Given the description of an element on the screen output the (x, y) to click on. 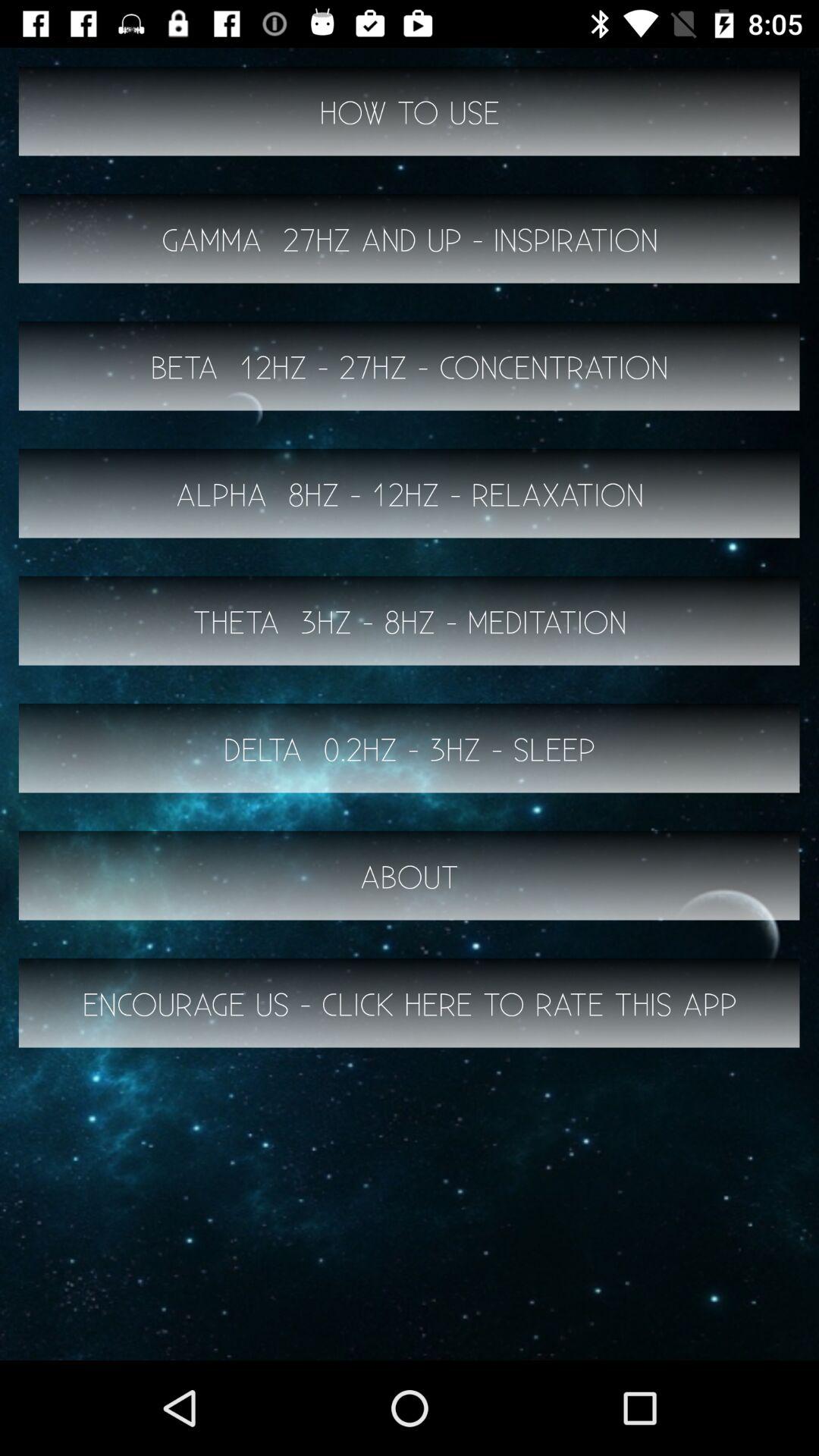
choose the button below the about (409, 1003)
